Given the description of an element on the screen output the (x, y) to click on. 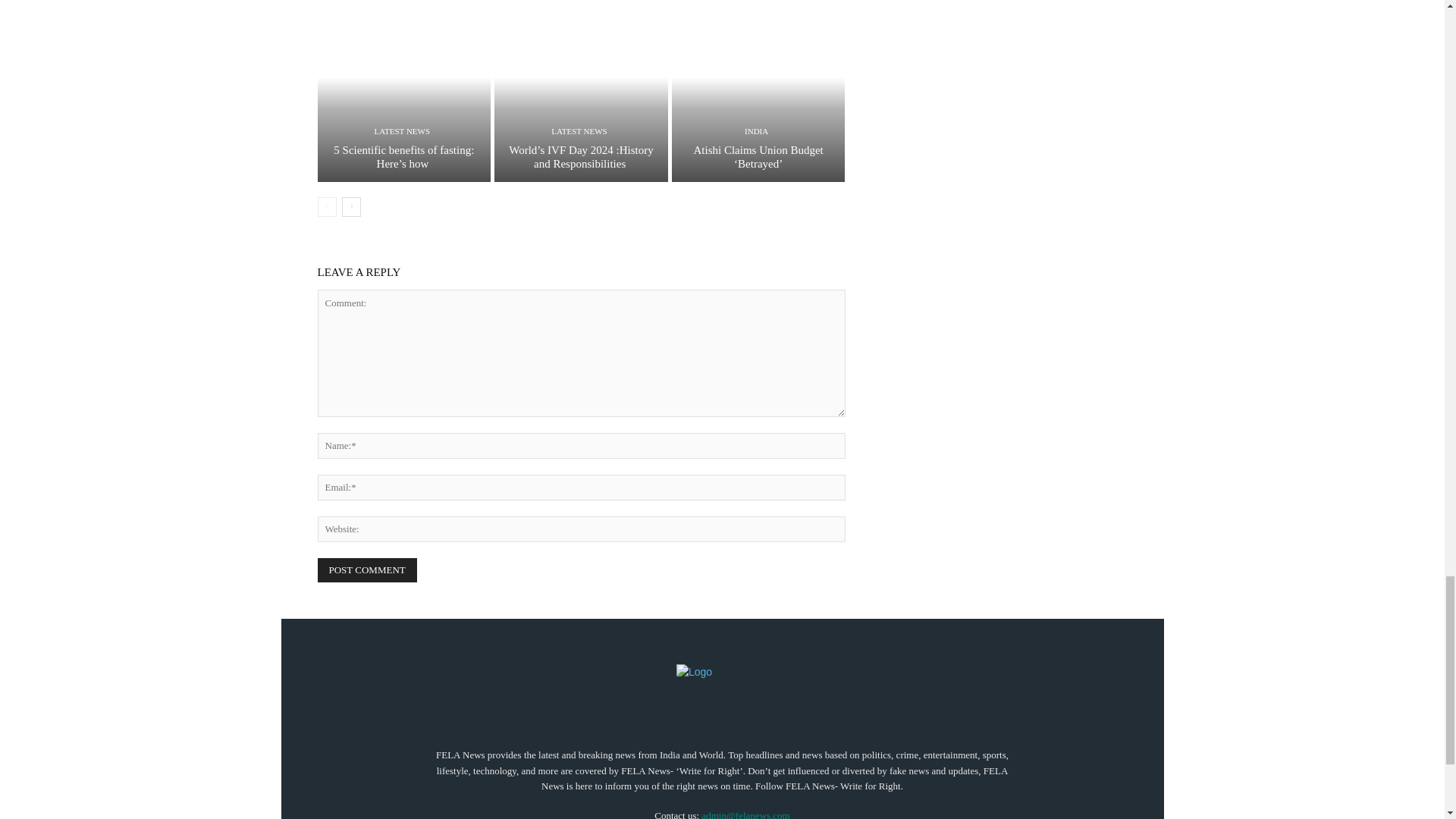
Post Comment (366, 569)
